Given the description of an element on the screen output the (x, y) to click on. 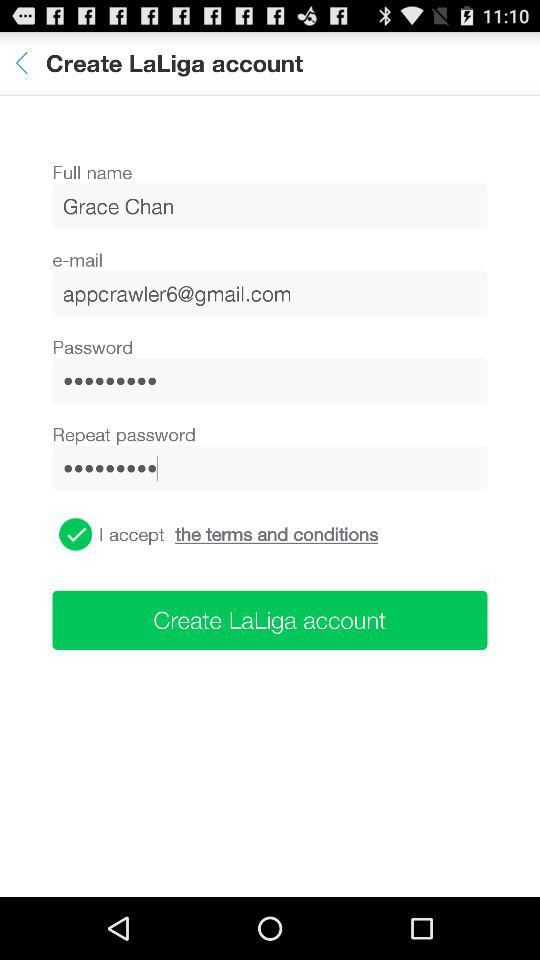
i agree (75, 533)
